Given the description of an element on the screen output the (x, y) to click on. 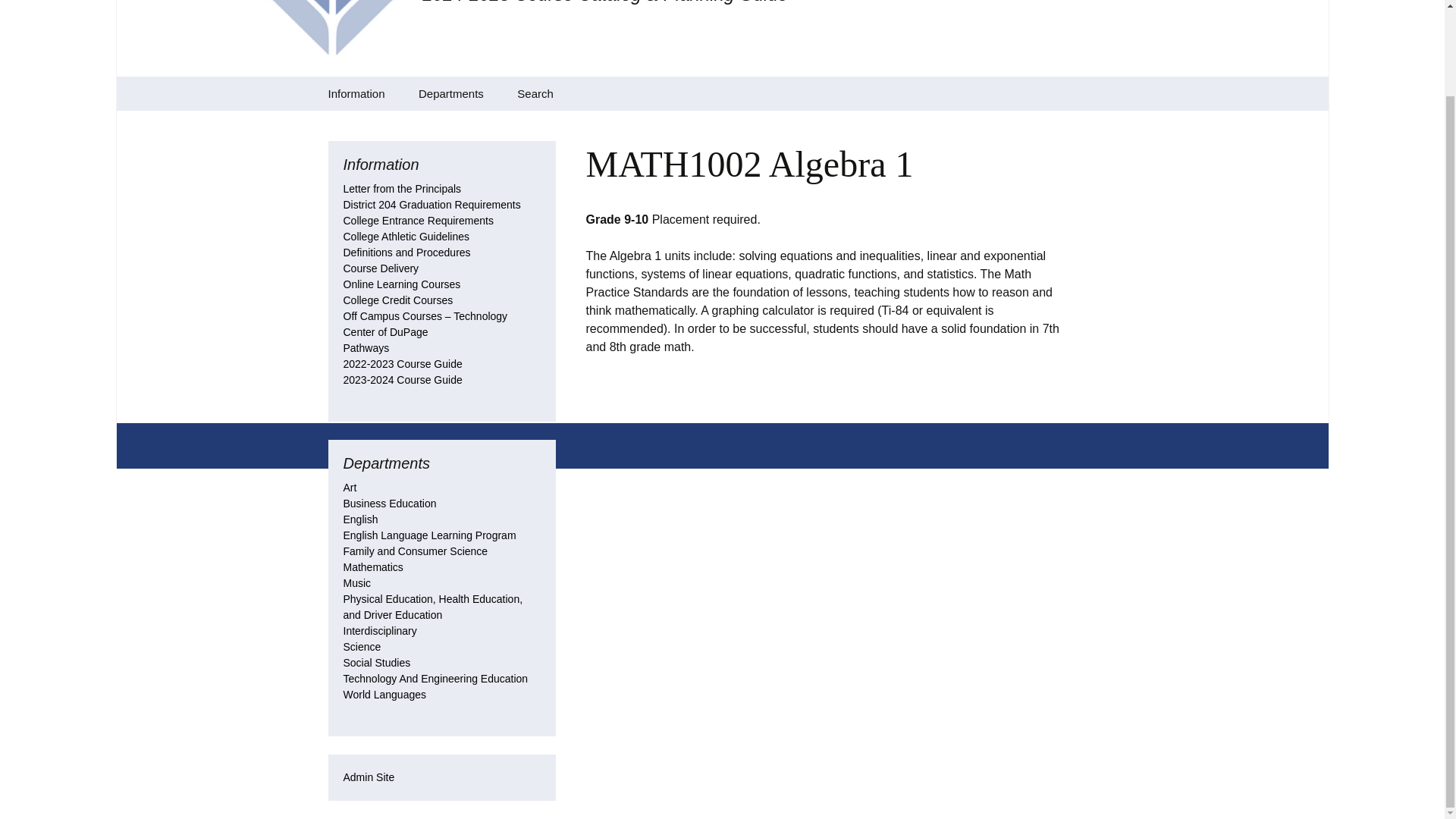
Pathways (365, 347)
Online Learning Courses (401, 284)
College Credit Courses (397, 300)
Art (478, 127)
Course Delivery (380, 268)
2022-2023 Course Guide (401, 363)
College Entrance Requirements (417, 220)
Home Page (388, 127)
Departments (451, 93)
